Given the description of an element on the screen output the (x, y) to click on. 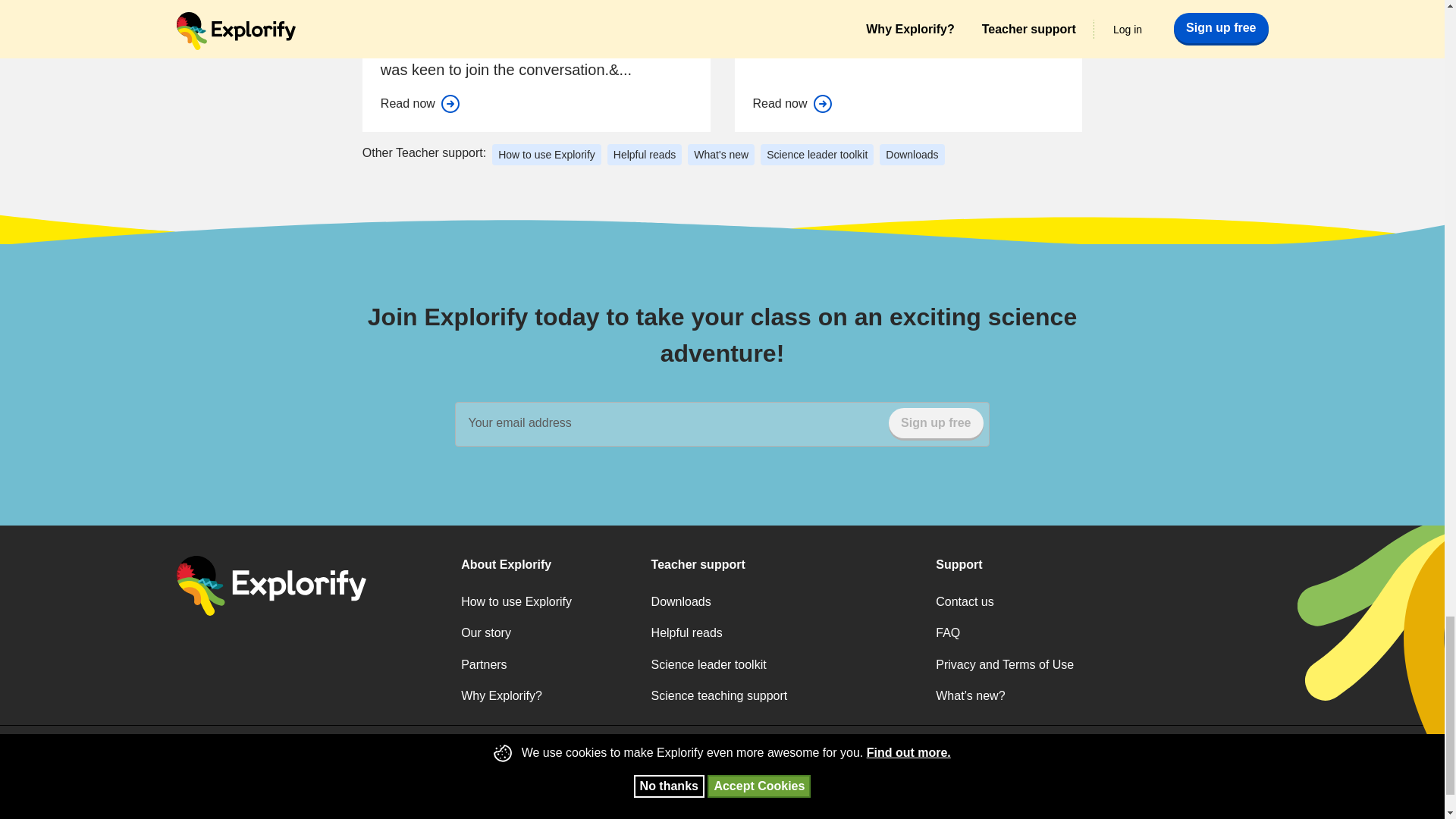
How to use Explorify (546, 154)
Read now (420, 104)
Science leader toolkit (816, 154)
Helpful reads (644, 154)
Downloads (911, 154)
Sign up free (935, 422)
Our story (486, 633)
Read now (791, 104)
What's new (720, 154)
How to use Explorify (516, 602)
Sign up free (935, 422)
